Given the description of an element on the screen output the (x, y) to click on. 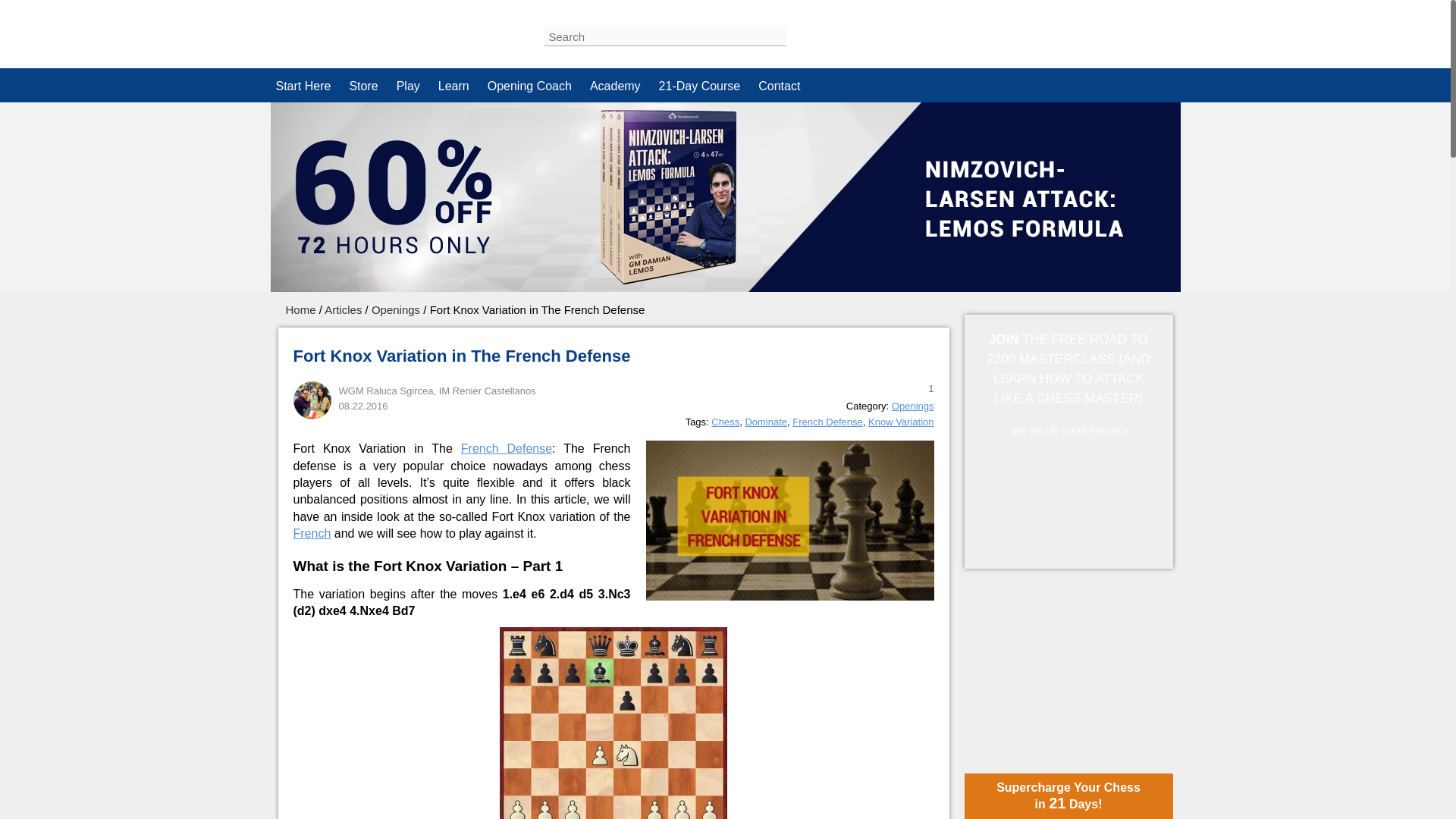
Learn (454, 84)
Store (363, 84)
TheChessWorld YouTube (1155, 30)
Opening Coach (529, 84)
TheChessWorld Twitter (1089, 30)
Start Here (303, 84)
Play (408, 84)
Articles (342, 309)
TheChessWorld Pinterest (1122, 30)
Academy (614, 84)
TheChessWorld Facebook (1055, 30)
Search (802, 35)
Search (802, 35)
21-Day Course (699, 84)
Home (300, 309)
